Given the description of an element on the screen output the (x, y) to click on. 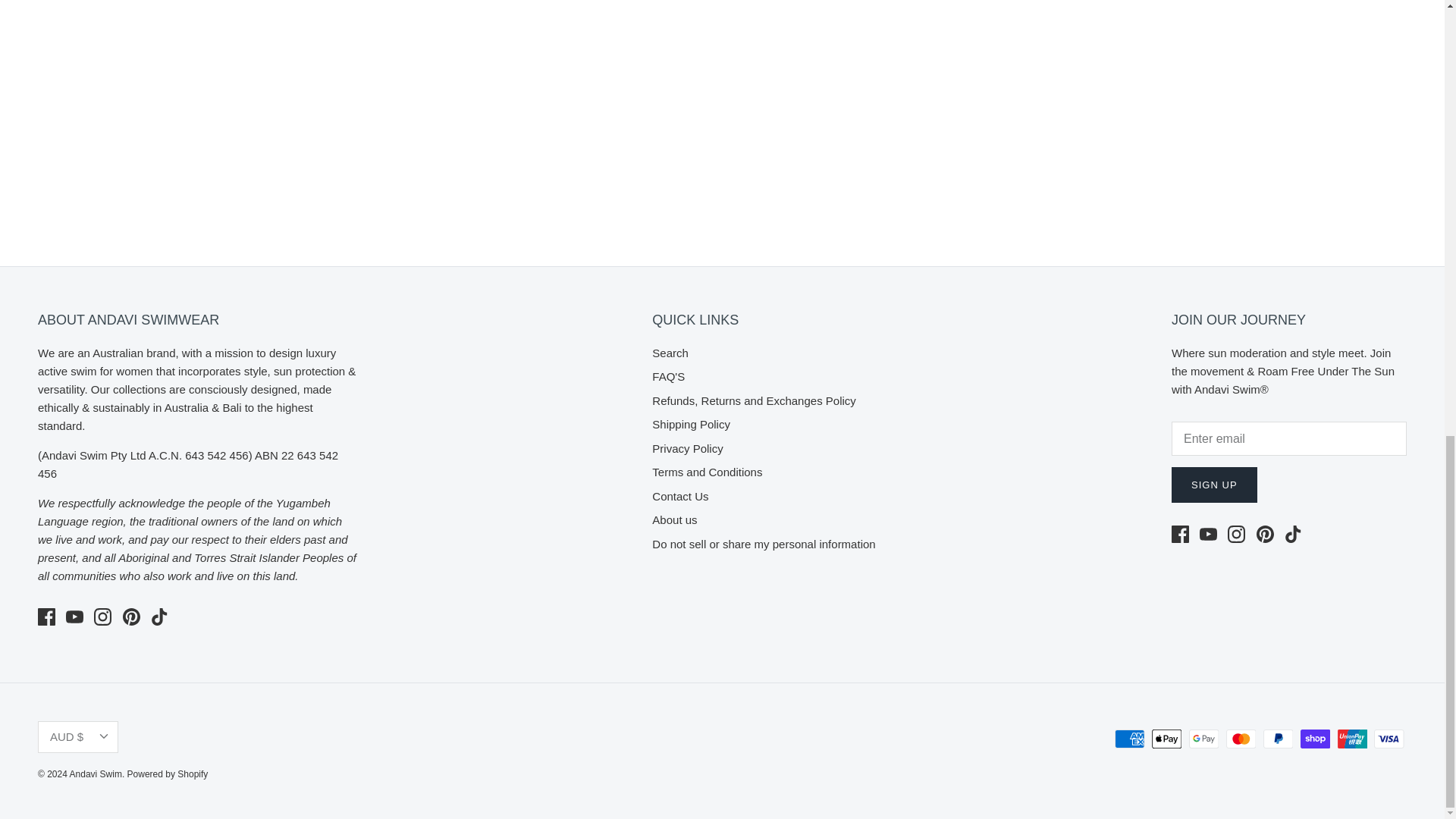
American Express (1129, 738)
Facebook (46, 616)
Union Pay (1352, 738)
Facebook (1180, 533)
Instagram (103, 616)
Down (103, 735)
Apple Pay (1166, 738)
Google Pay (1203, 738)
Shop Pay (1315, 738)
Youtube (1208, 533)
